Given the description of an element on the screen output the (x, y) to click on. 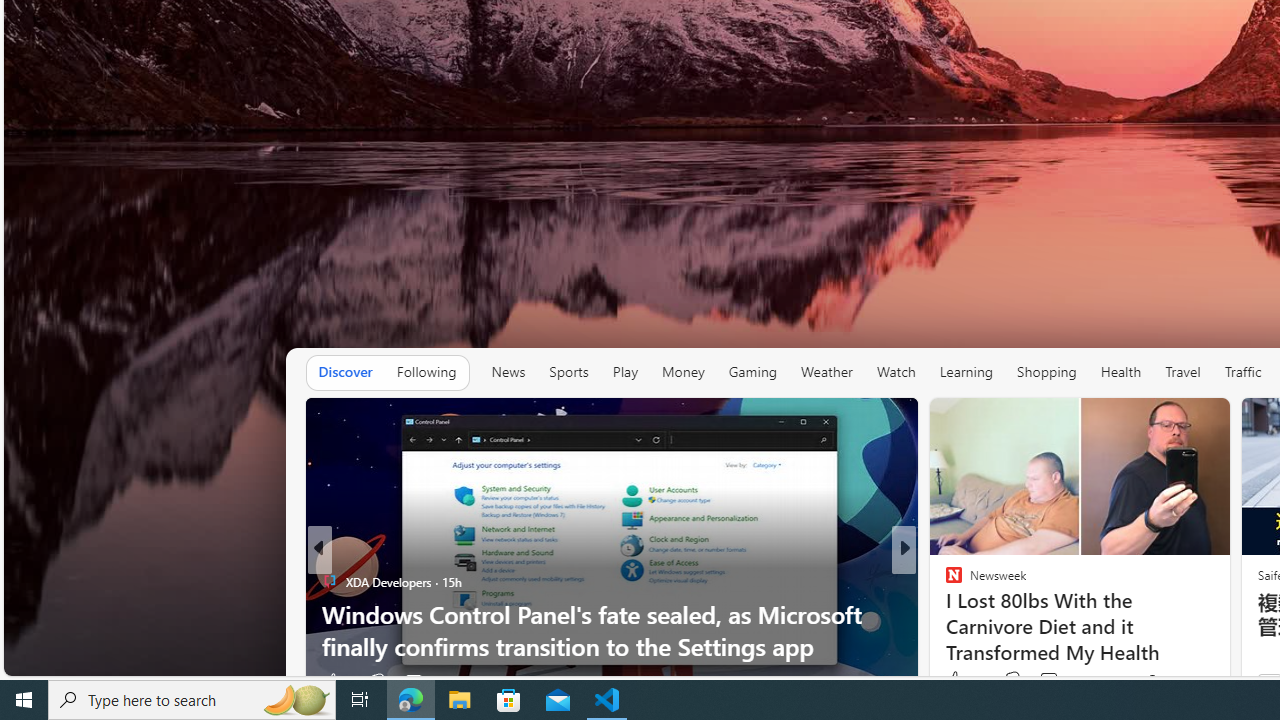
View comments 18 Comment (1044, 681)
82 Like (956, 681)
The Passport Kitchen (944, 614)
View comments 30 Comment (1042, 681)
587 Like (959, 681)
BGR (944, 581)
365 Like (959, 681)
